Given the description of an element on the screen output the (x, y) to click on. 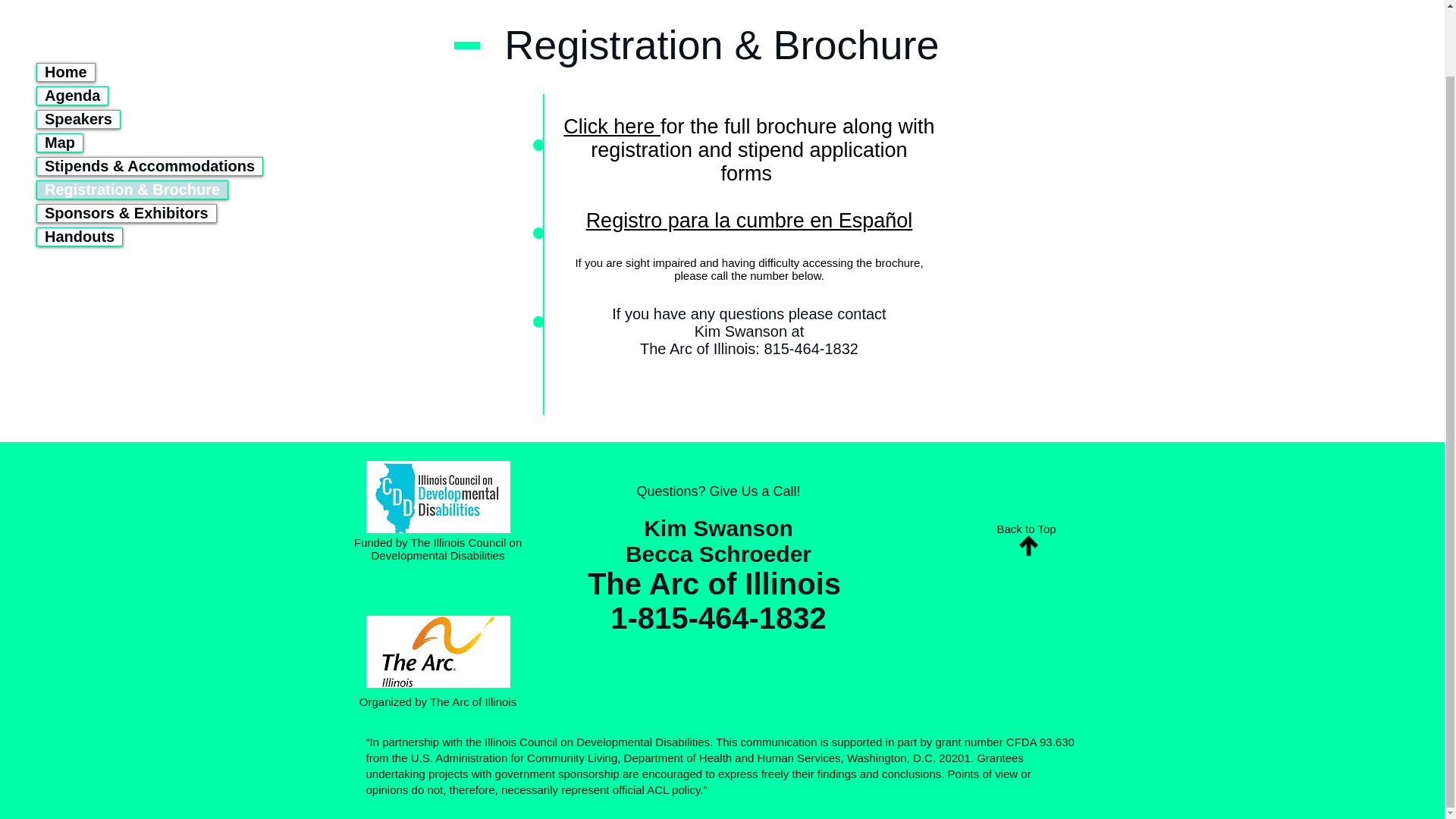
Handouts (79, 163)
Click here (612, 126)
Home (65, 4)
Back to Top (1025, 528)
Speakers (78, 46)
Agenda (72, 22)
Map (59, 69)
